Given the description of an element on the screen output the (x, y) to click on. 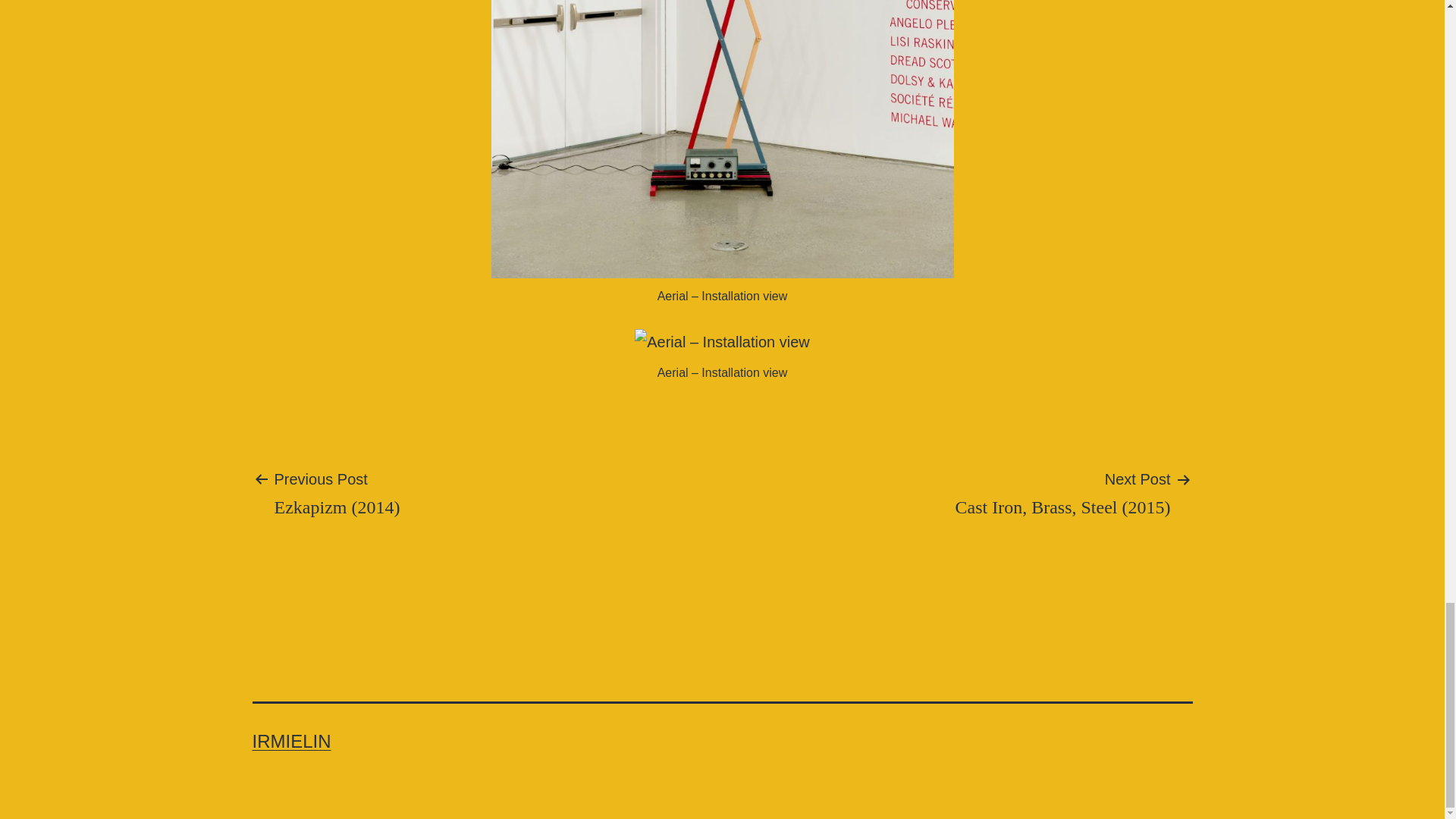
IRMIELIN (290, 741)
